Given the description of an element on the screen output the (x, y) to click on. 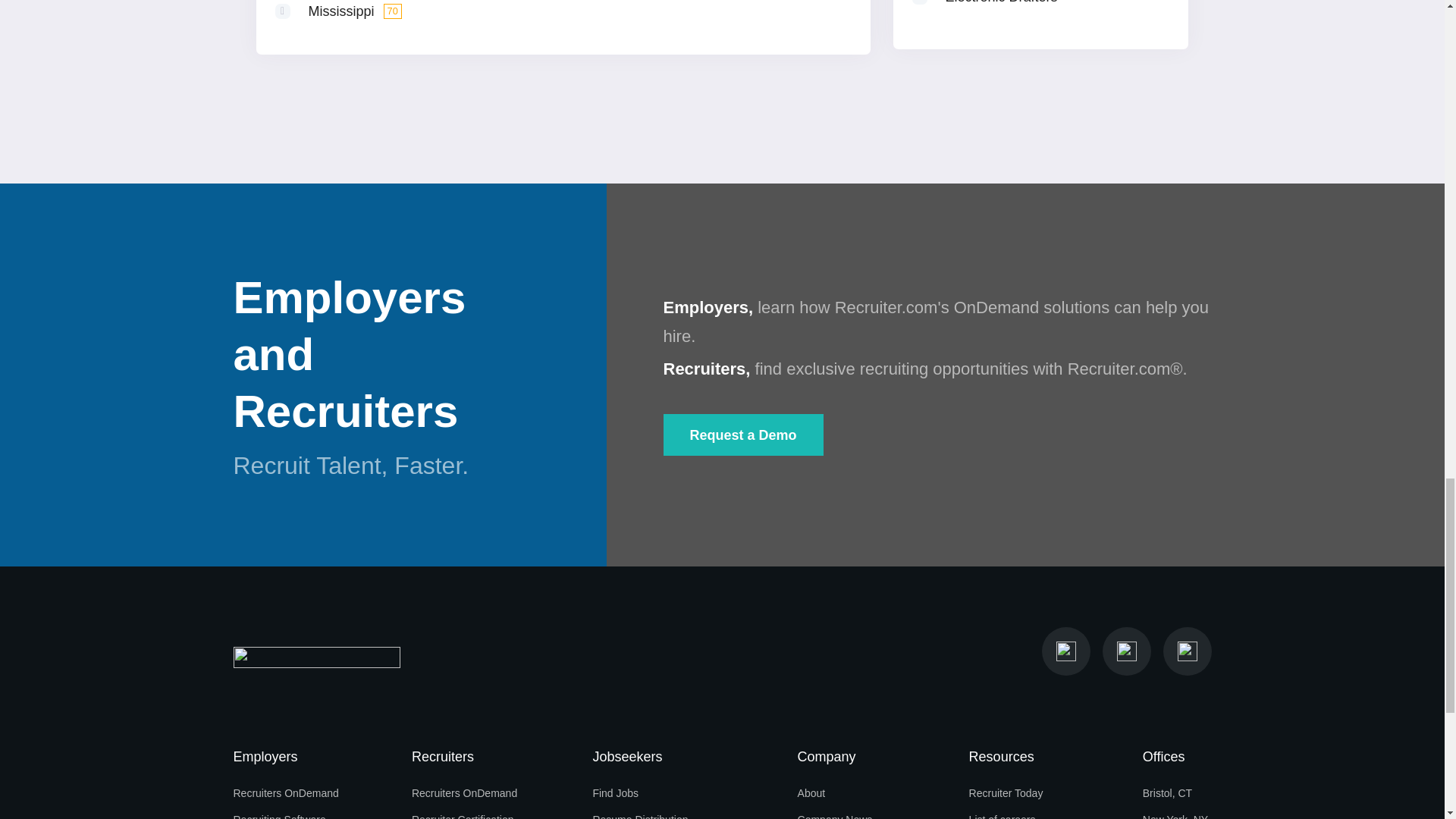
Electronic Drafters (1000, 2)
Request a Demo (742, 434)
